Given the description of an element on the screen output the (x, y) to click on. 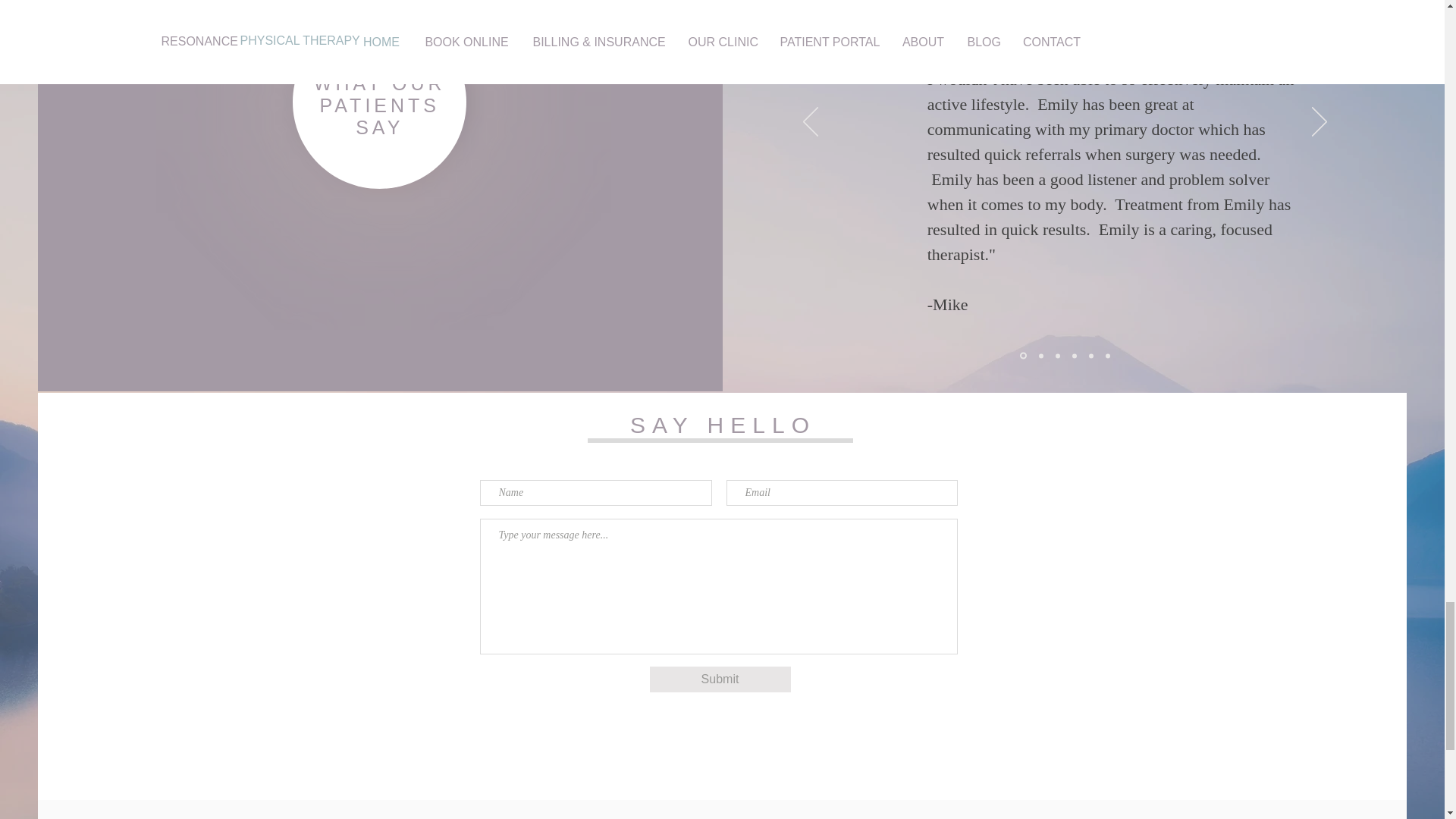
Submit (719, 679)
